Given the description of an element on the screen output the (x, y) to click on. 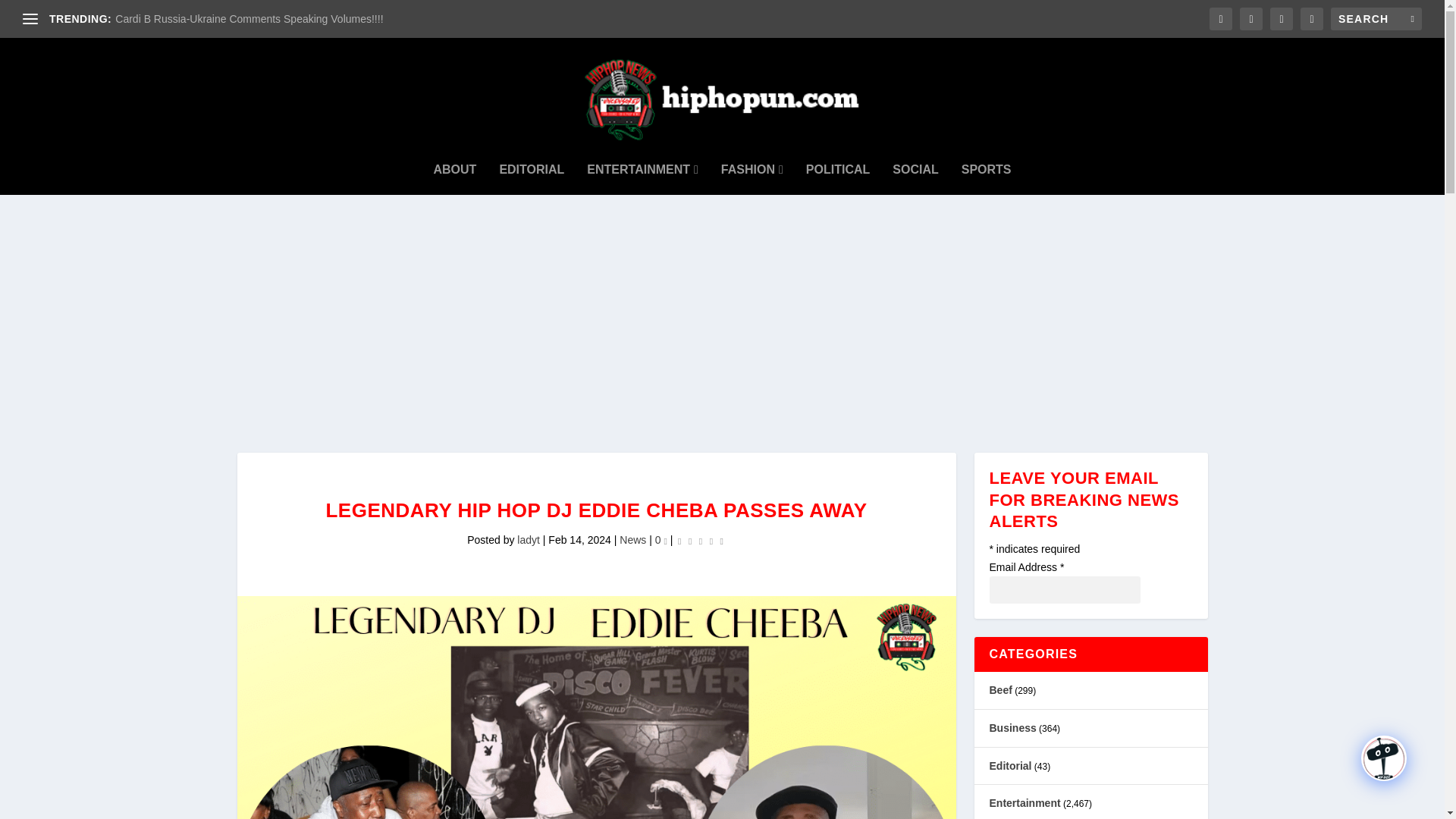
Cardi B Russia-Ukraine Comments Speaking Volumes!!!! (248, 19)
FASHION (751, 169)
ENTERTAINMENT (642, 169)
EDITORIAL (531, 169)
Search for: (1376, 18)
